Given the description of an element on the screen output the (x, y) to click on. 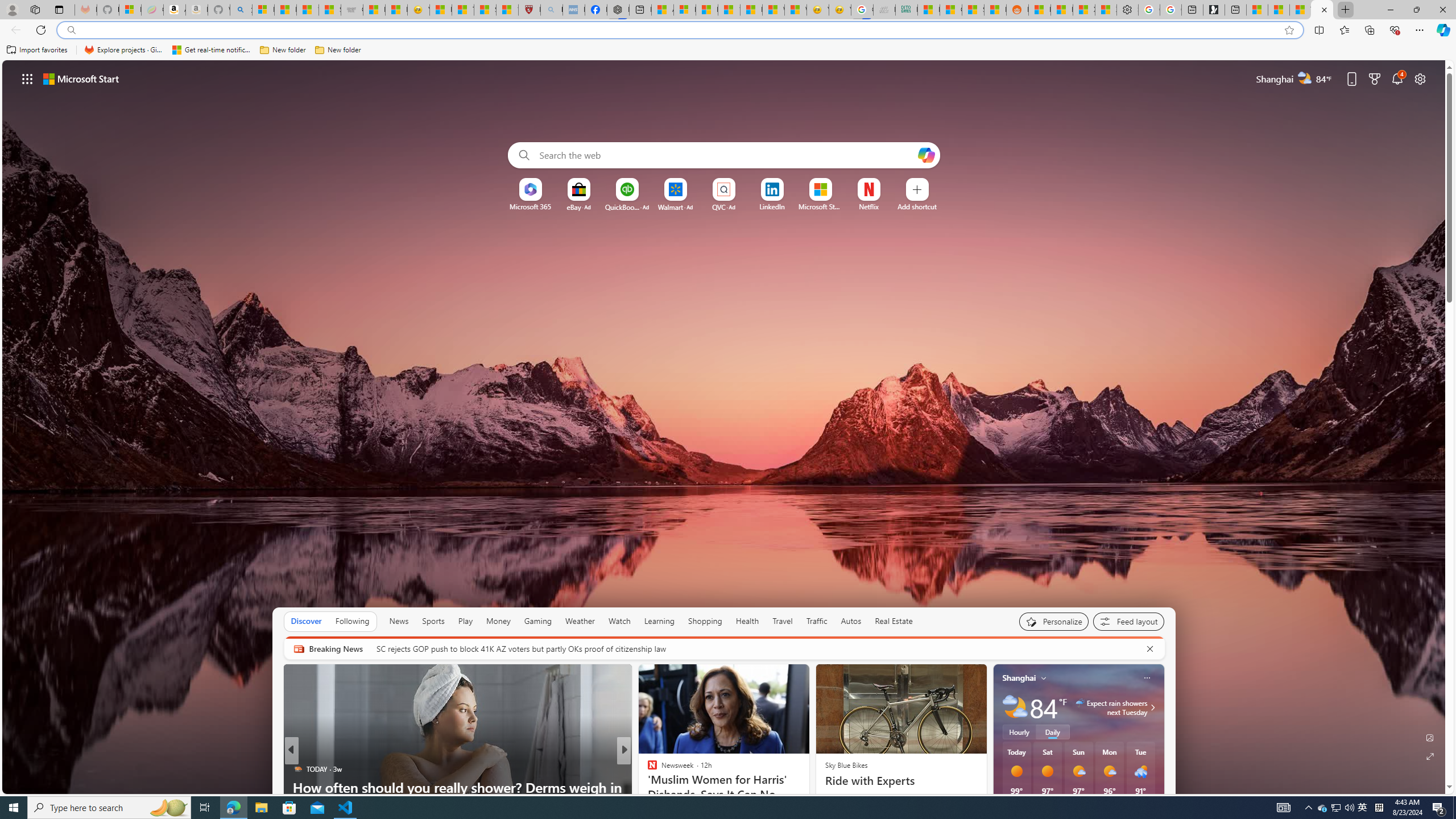
The Motley Fool (647, 768)
Sky Blue Bikes (845, 764)
MSN (995, 9)
Expect rain showers next Tuesday (1150, 707)
Play (465, 621)
Gaming (537, 621)
